Given the description of an element on the screen output the (x, y) to click on. 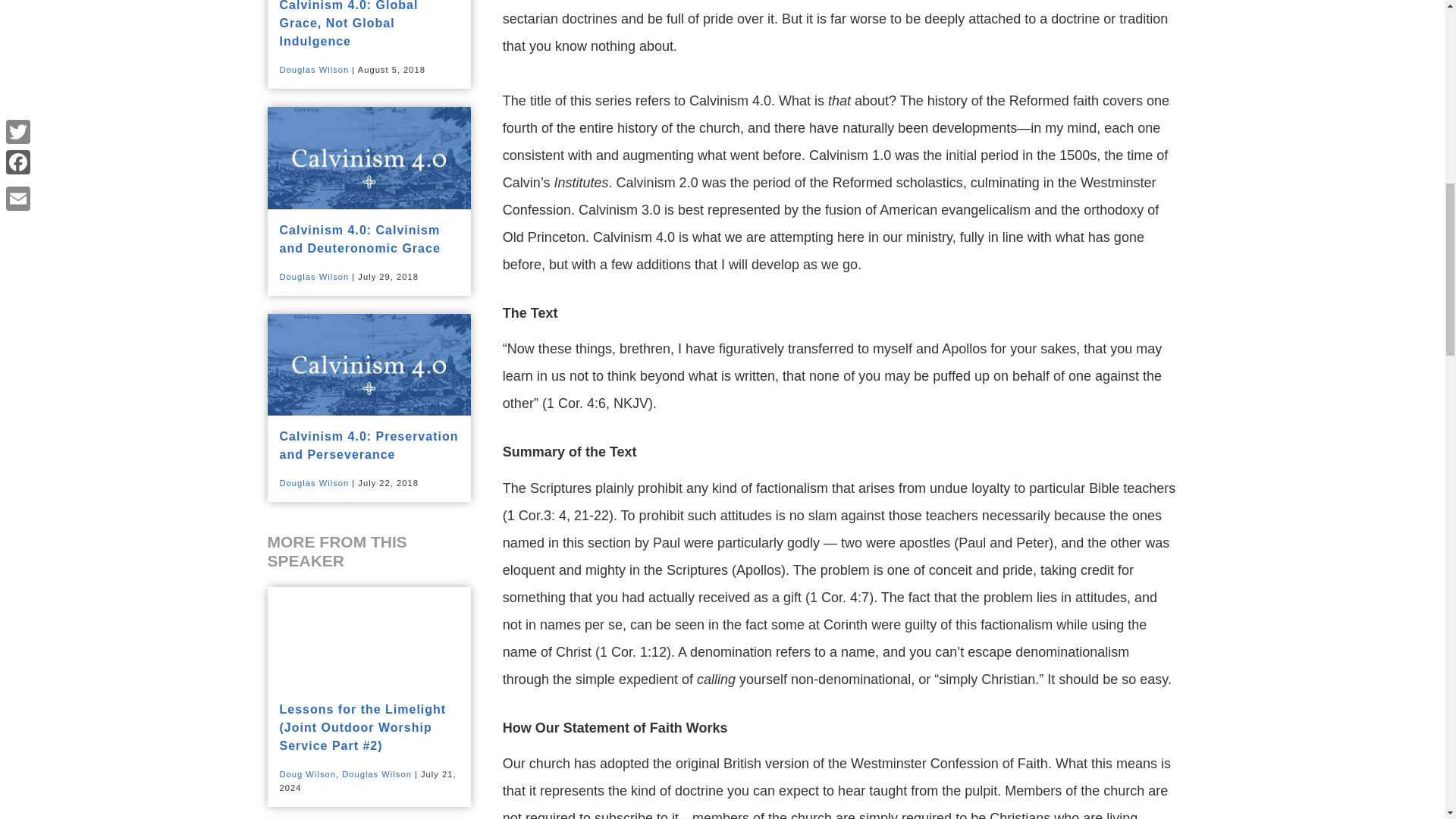
Douglas Wilson (314, 69)
Douglas Wilson (377, 773)
Douglas Wilson (314, 276)
Calvinism 4.0: Calvinism and Deuteronomic Grace (359, 238)
Calvinism 4.0: Global Grace, Not Global Indulgence (348, 23)
Doug Wilson (306, 773)
Calvinism 4.0: Preservation and Perseverance (368, 445)
Douglas Wilson (314, 482)
